Given the description of an element on the screen output the (x, y) to click on. 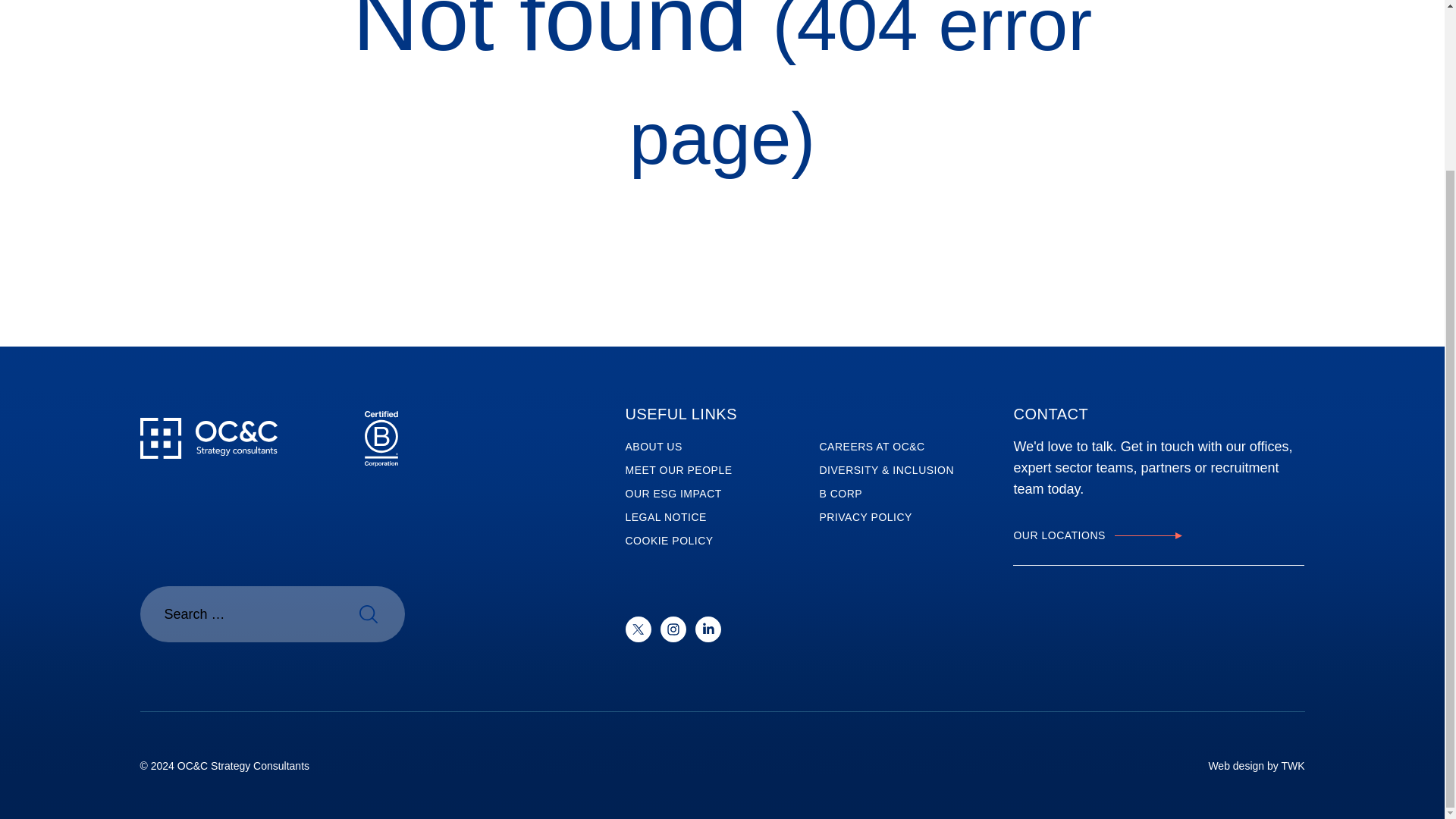
Search (367, 614)
Search (367, 614)
